Given the description of an element on the screen output the (x, y) to click on. 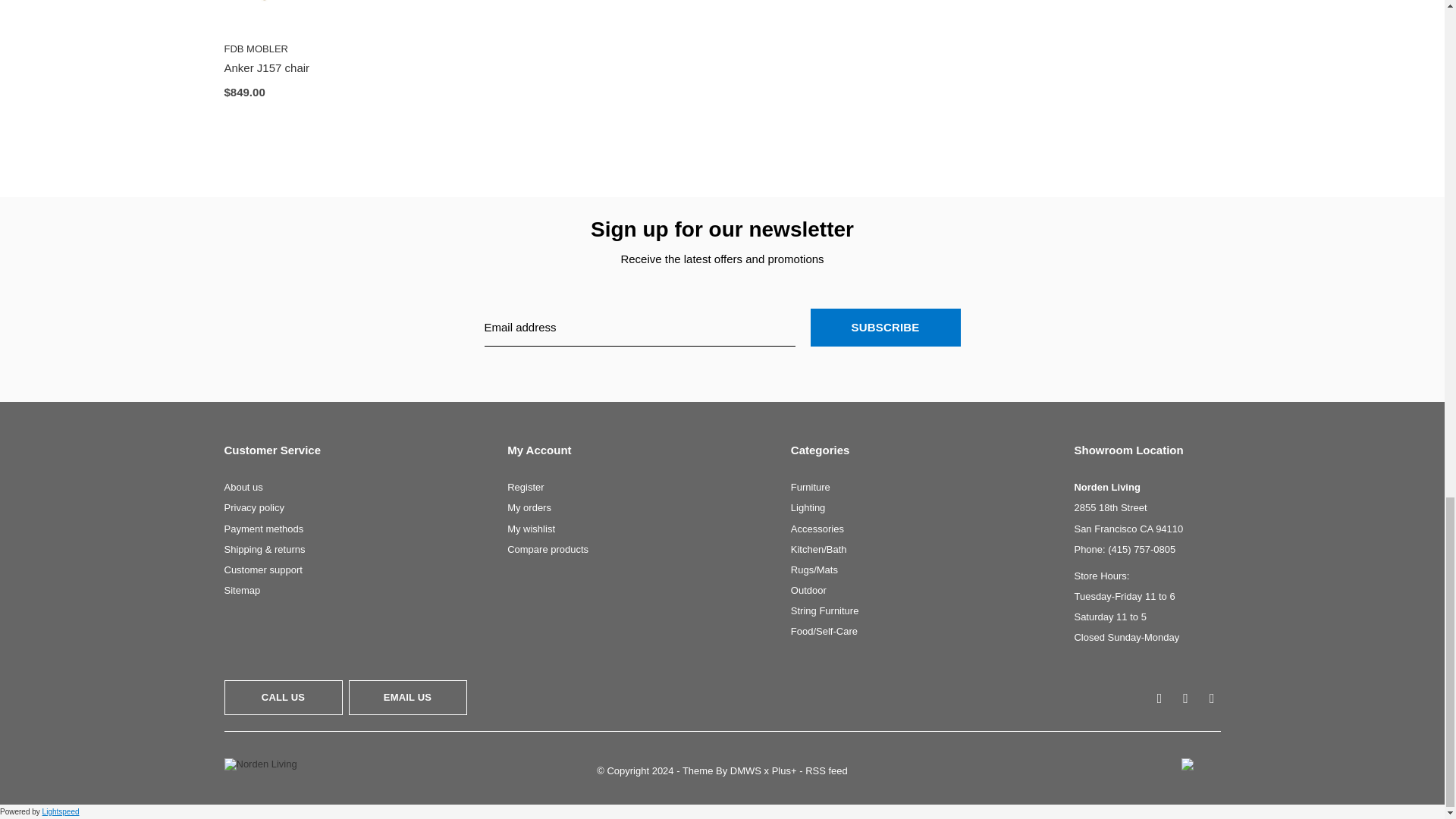
My orders (528, 507)
My wishlist (530, 528)
Lightspeed (61, 811)
Register (524, 487)
